Given the description of an element on the screen output the (x, y) to click on. 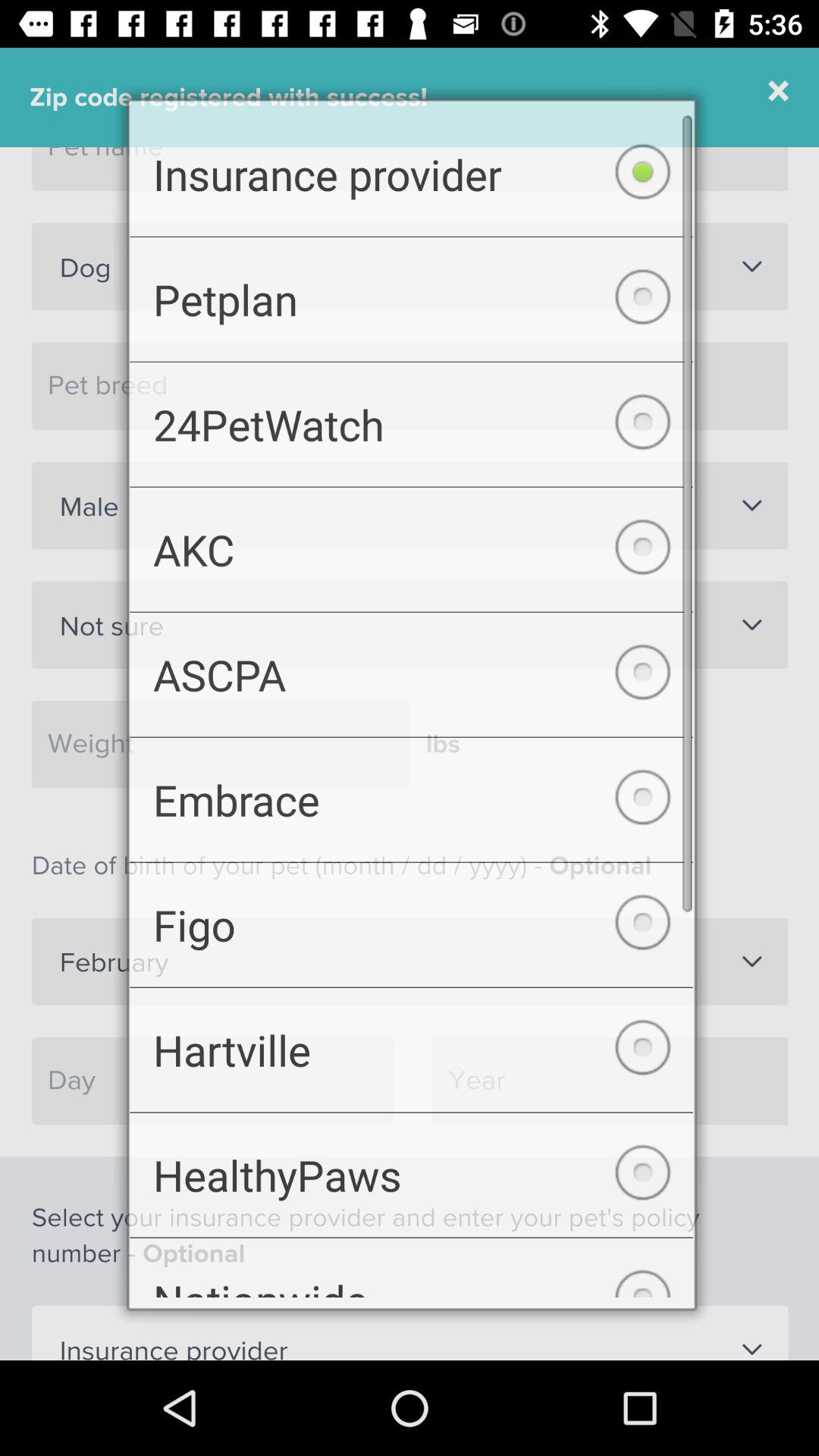
press checkbox above 24petwatch (411, 288)
